Given the description of an element on the screen output the (x, y) to click on. 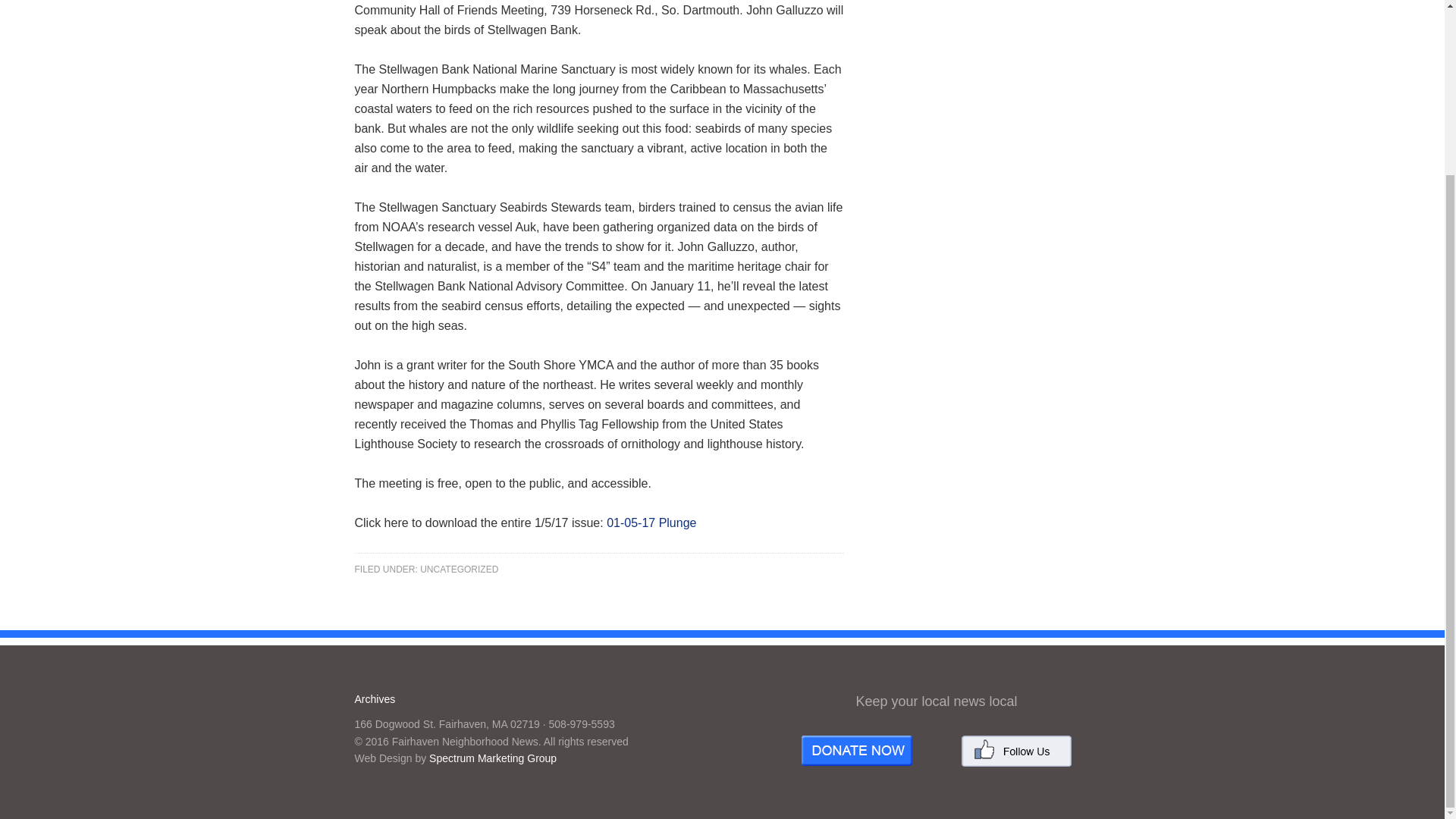
Archives (375, 698)
UNCATEGORIZED (458, 569)
Spectrum Marketing Group (492, 758)
01-05-17 Plunge (651, 521)
